Given the description of an element on the screen output the (x, y) to click on. 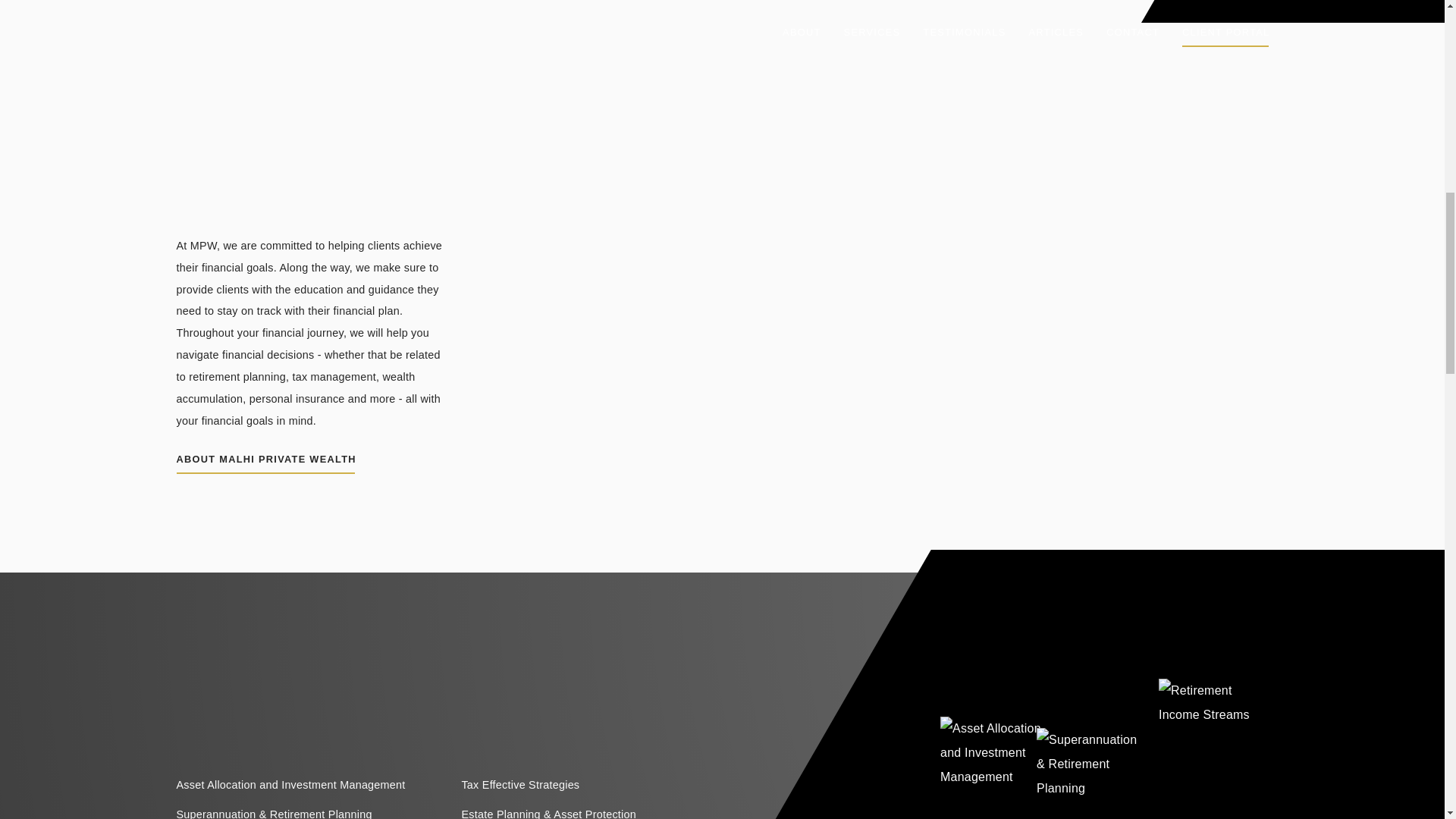
ABOUT MALHI PRIVATE WEALTH (264, 461)
